Given the description of an element on the screen output the (x, y) to click on. 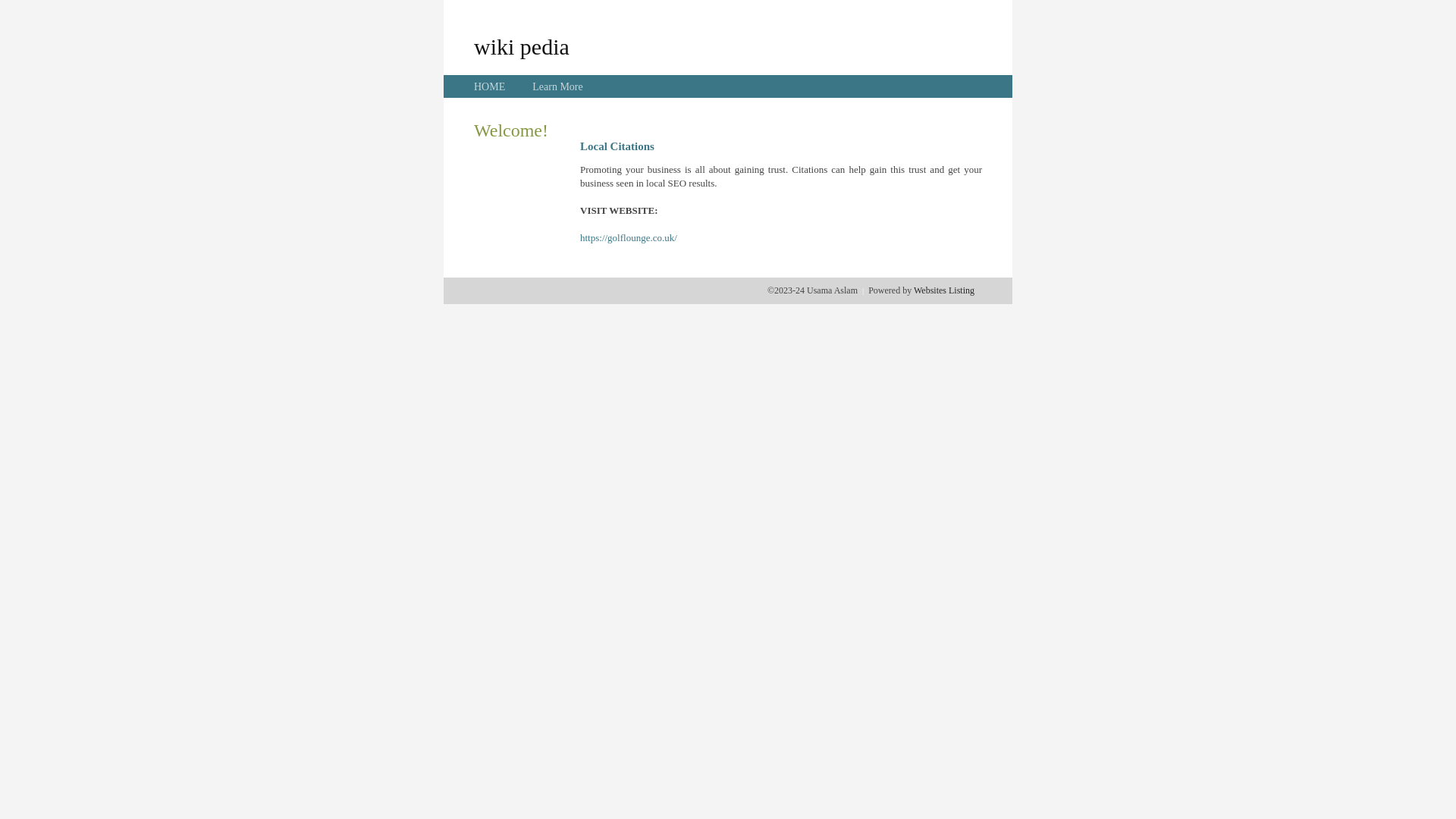
https://golflounge.co.uk/ Element type: text (628, 237)
Learn More Element type: text (557, 86)
wiki pedia Element type: text (521, 46)
Websites Listing Element type: text (943, 290)
HOME Element type: text (489, 86)
